Given the description of an element on the screen output the (x, y) to click on. 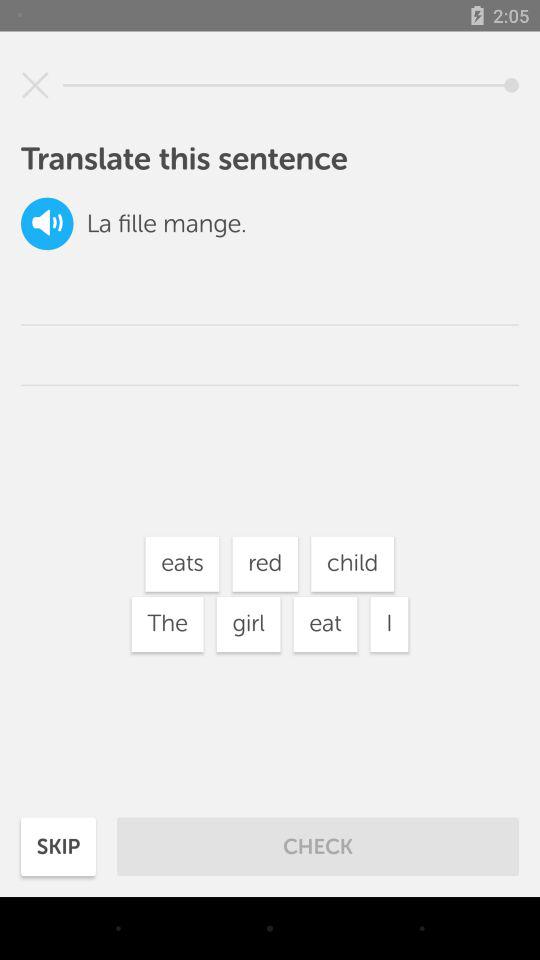
turn off icon below the mange. item (265, 563)
